Given the description of an element on the screen output the (x, y) to click on. 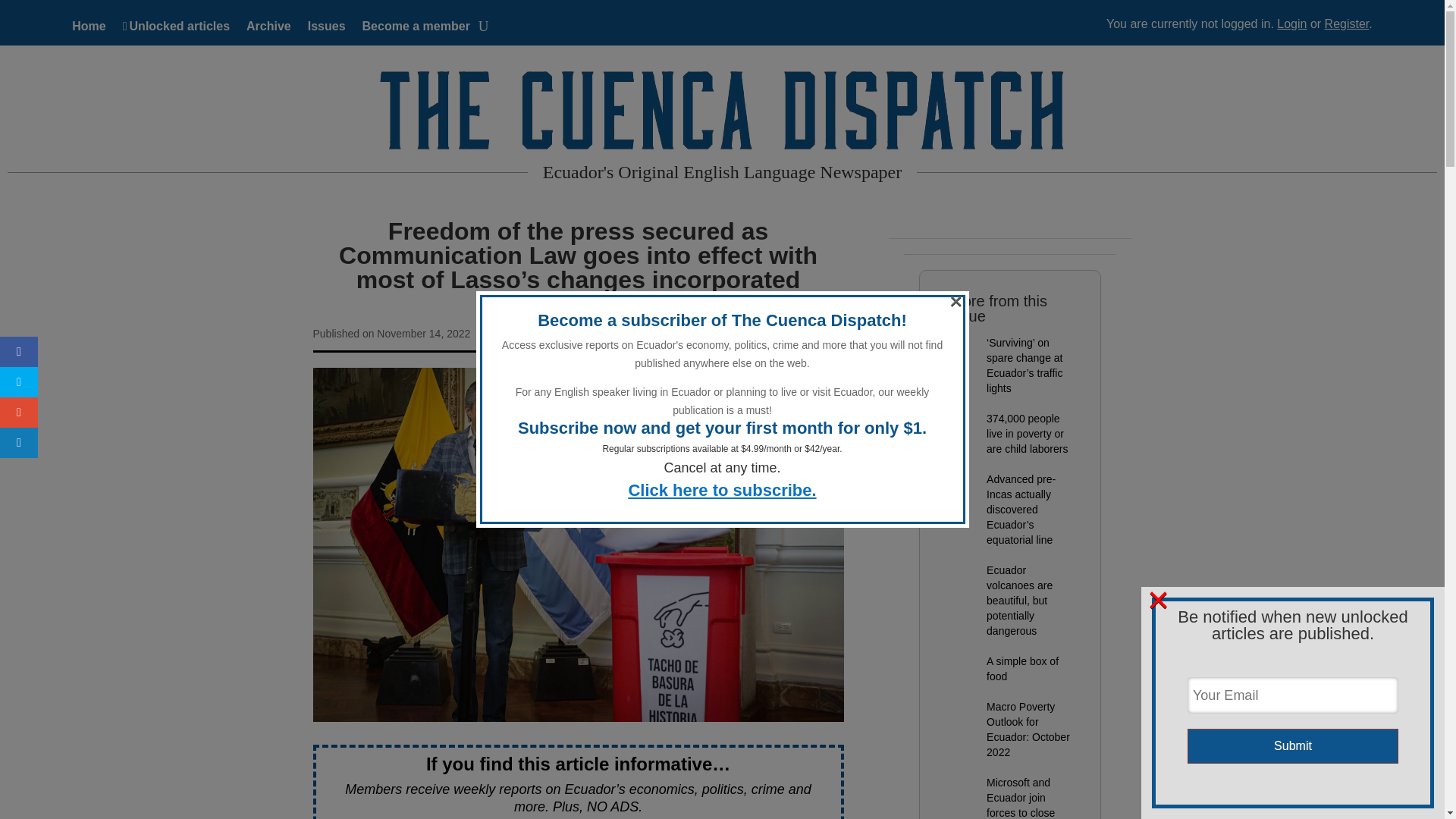
Become a member (416, 29)
Register (1347, 23)
Archive (268, 29)
Home (87, 29)
Login (1291, 23)
logo-cuenca-dispatch-no-text (721, 110)
Issues (326, 29)
Unlocked articles (176, 29)
